Given the description of an element on the screen output the (x, y) to click on. 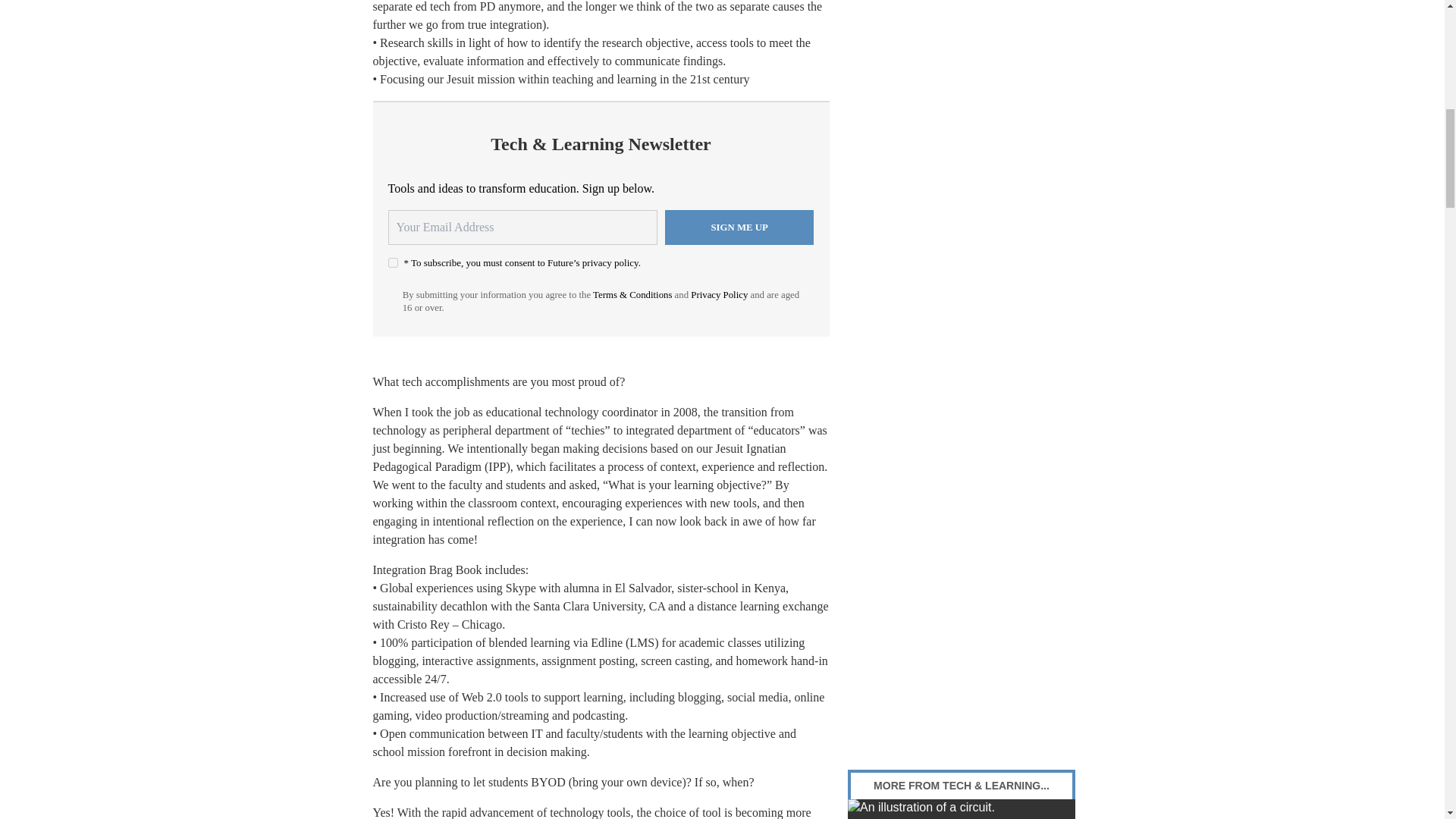
on (392, 262)
Privacy Policy (719, 294)
Sign me up (739, 226)
Sign me up (739, 226)
